Given the description of an element on the screen output the (x, y) to click on. 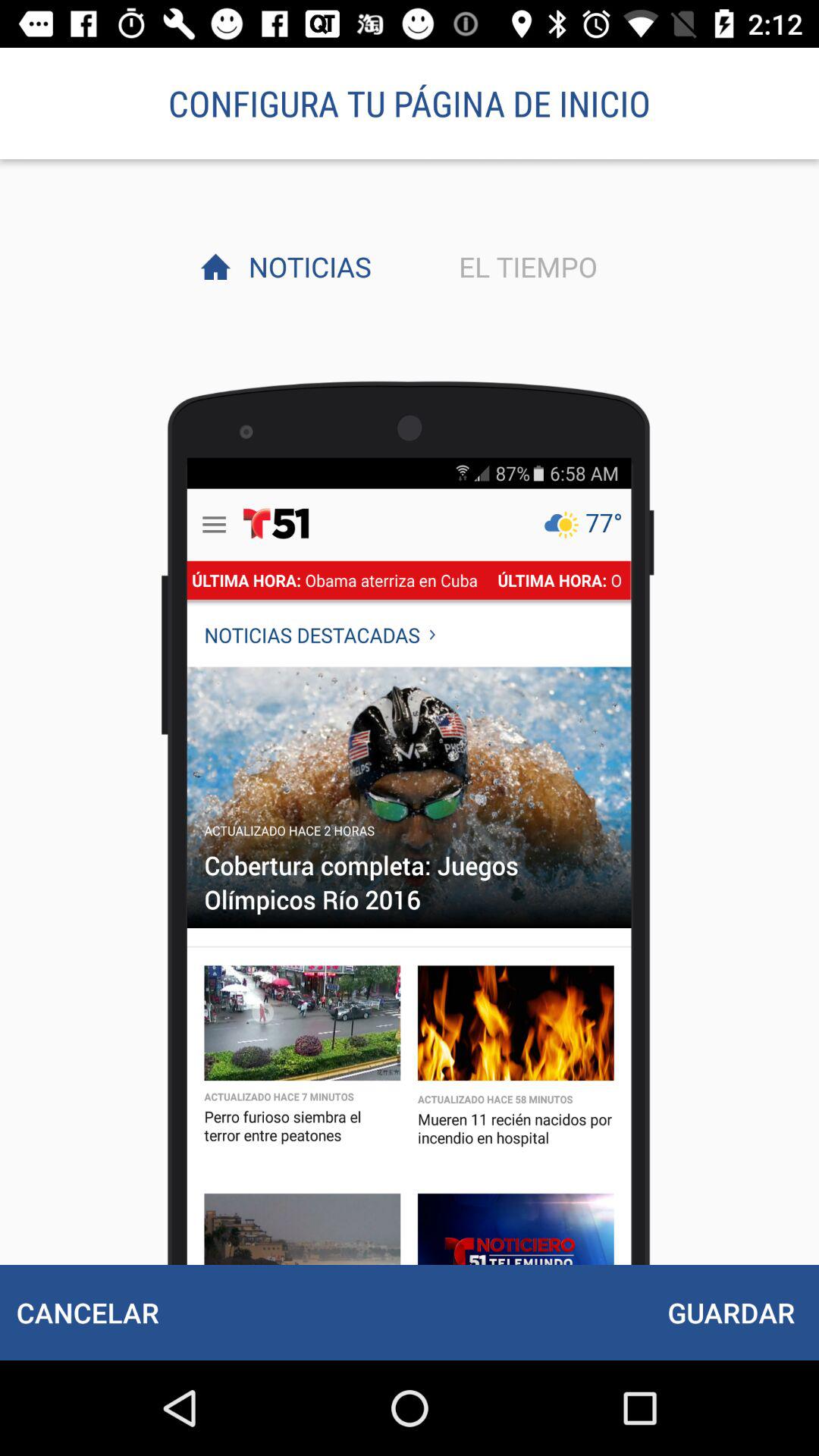
choose the item at the bottom right corner (731, 1312)
